Given the description of an element on the screen output the (x, y) to click on. 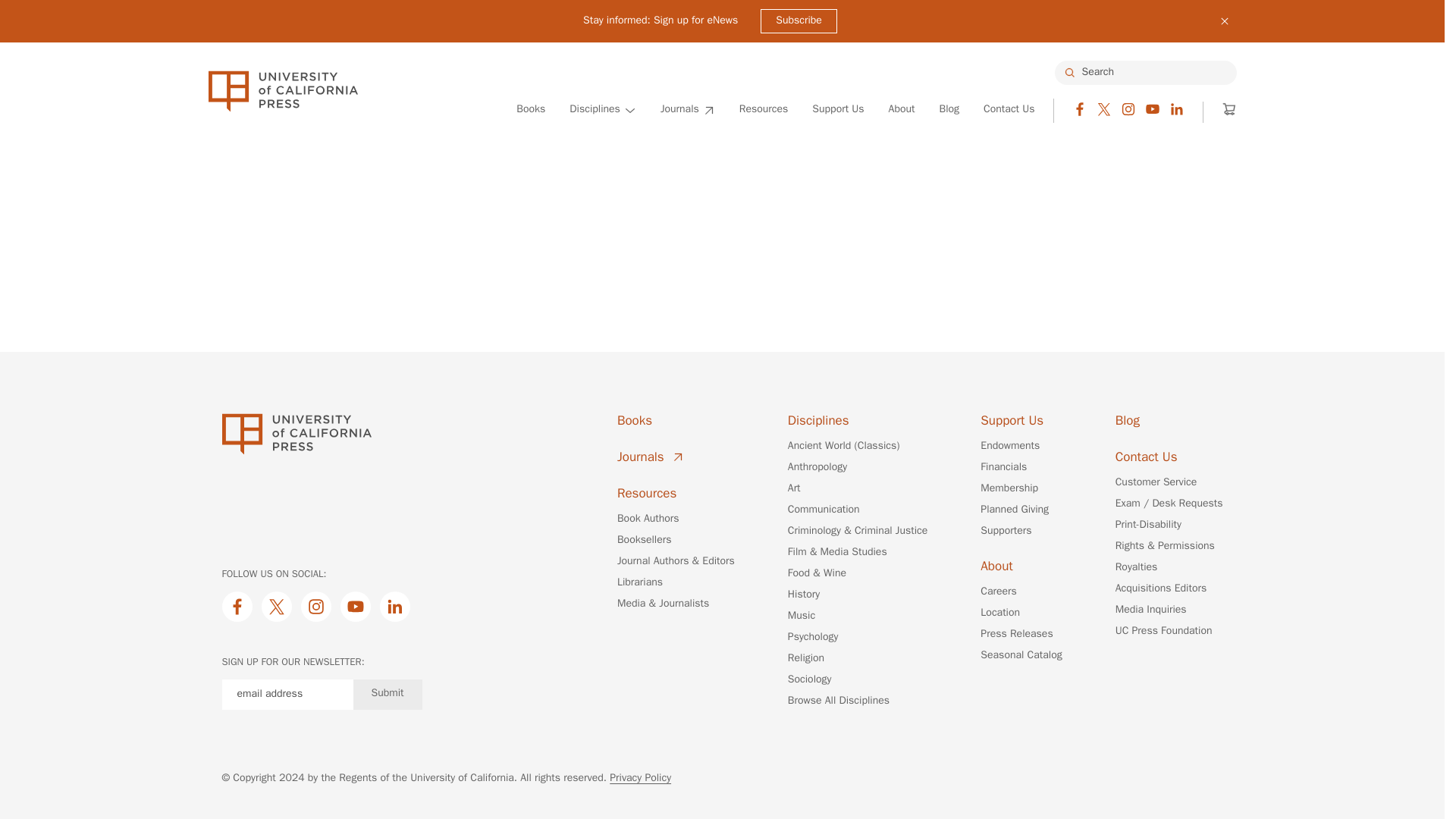
University of California Press (282, 91)
Subscribe (798, 21)
Books (530, 110)
Disciplines (602, 110)
Dismiss (1223, 21)
